Given the description of an element on the screen output the (x, y) to click on. 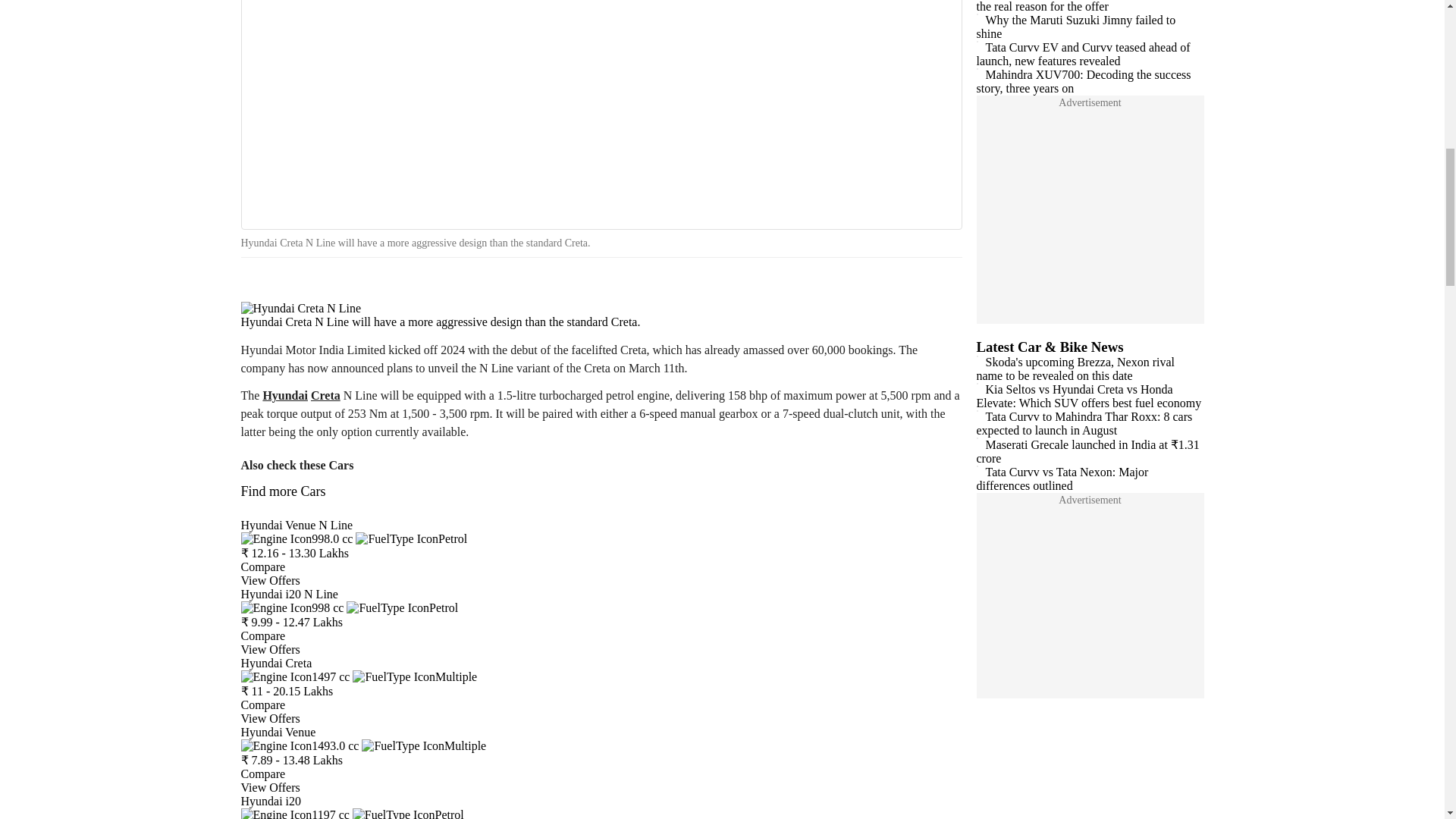
Engine (300, 745)
Engine (292, 607)
Engine (297, 538)
Engine (295, 813)
FuelType (402, 607)
Facebook Share (258, 283)
Tweet (299, 283)
FuelType (411, 538)
Engine (295, 676)
FuelType (408, 813)
FuelType (414, 676)
FuelType (423, 745)
